Given the description of an element on the screen output the (x, y) to click on. 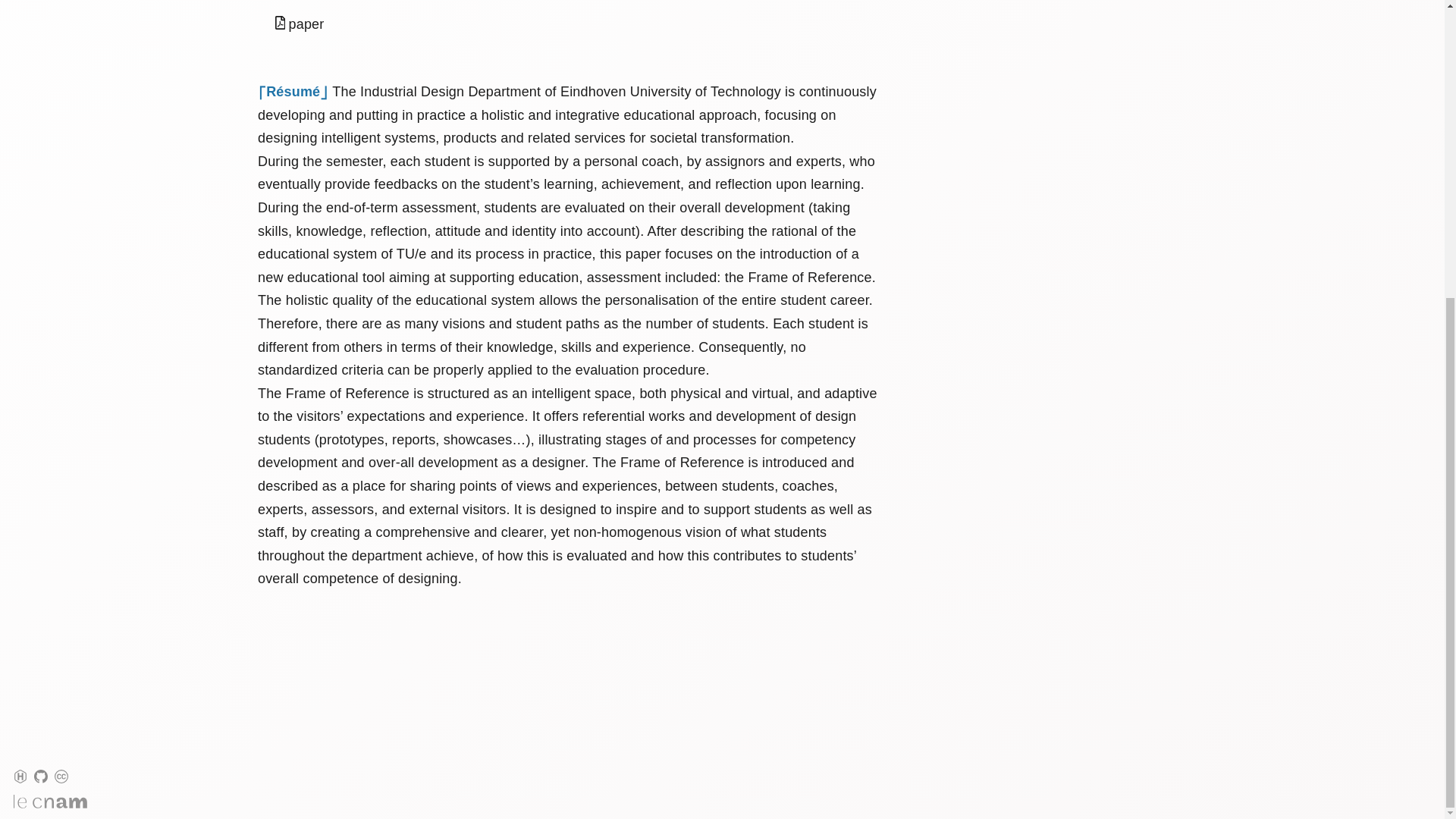
paper (298, 23)
